Given the description of an element on the screen output the (x, y) to click on. 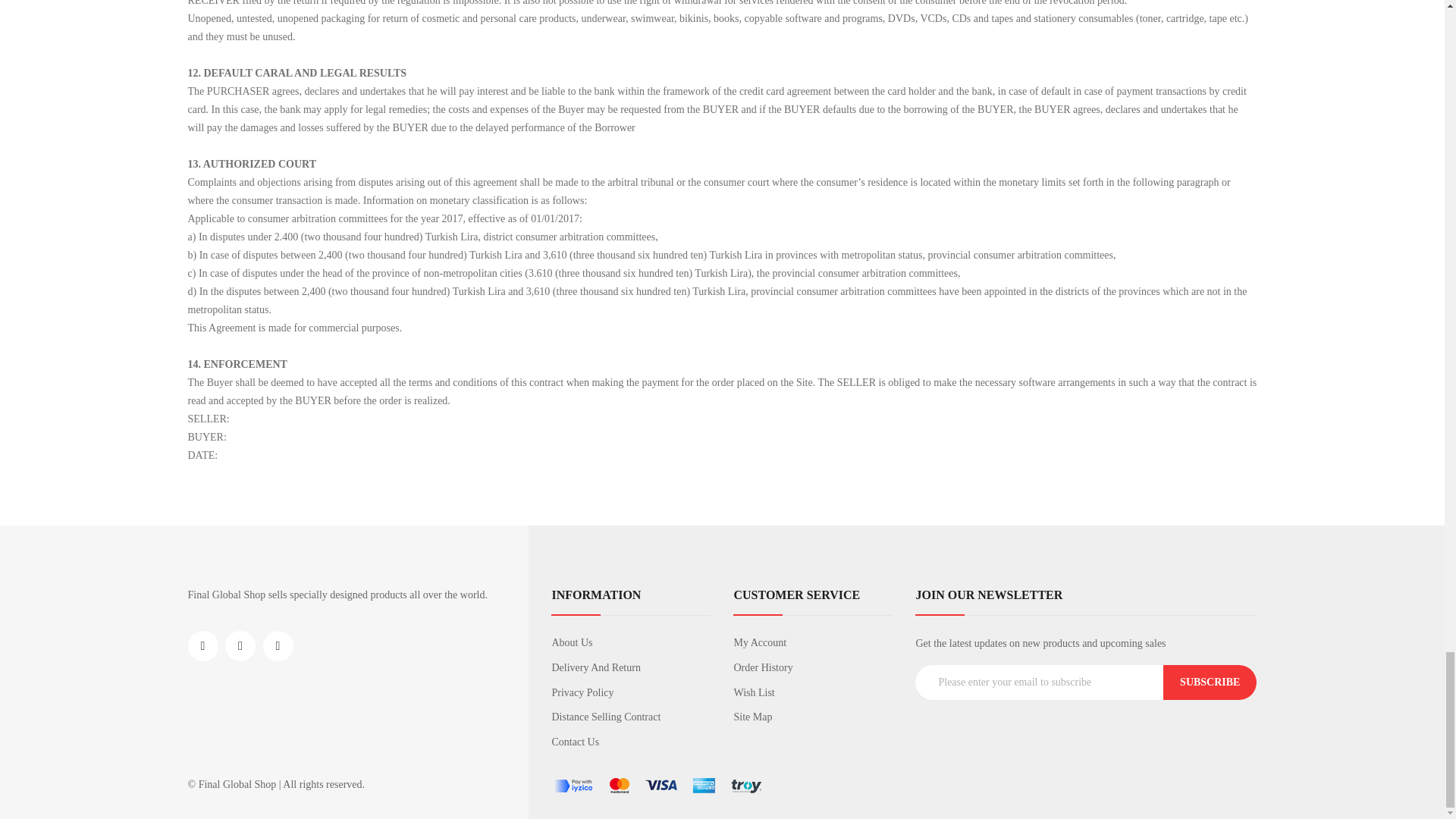
Youtube (277, 645)
Facebook (202, 645)
Instagram (240, 645)
